Given the description of an element on the screen output the (x, y) to click on. 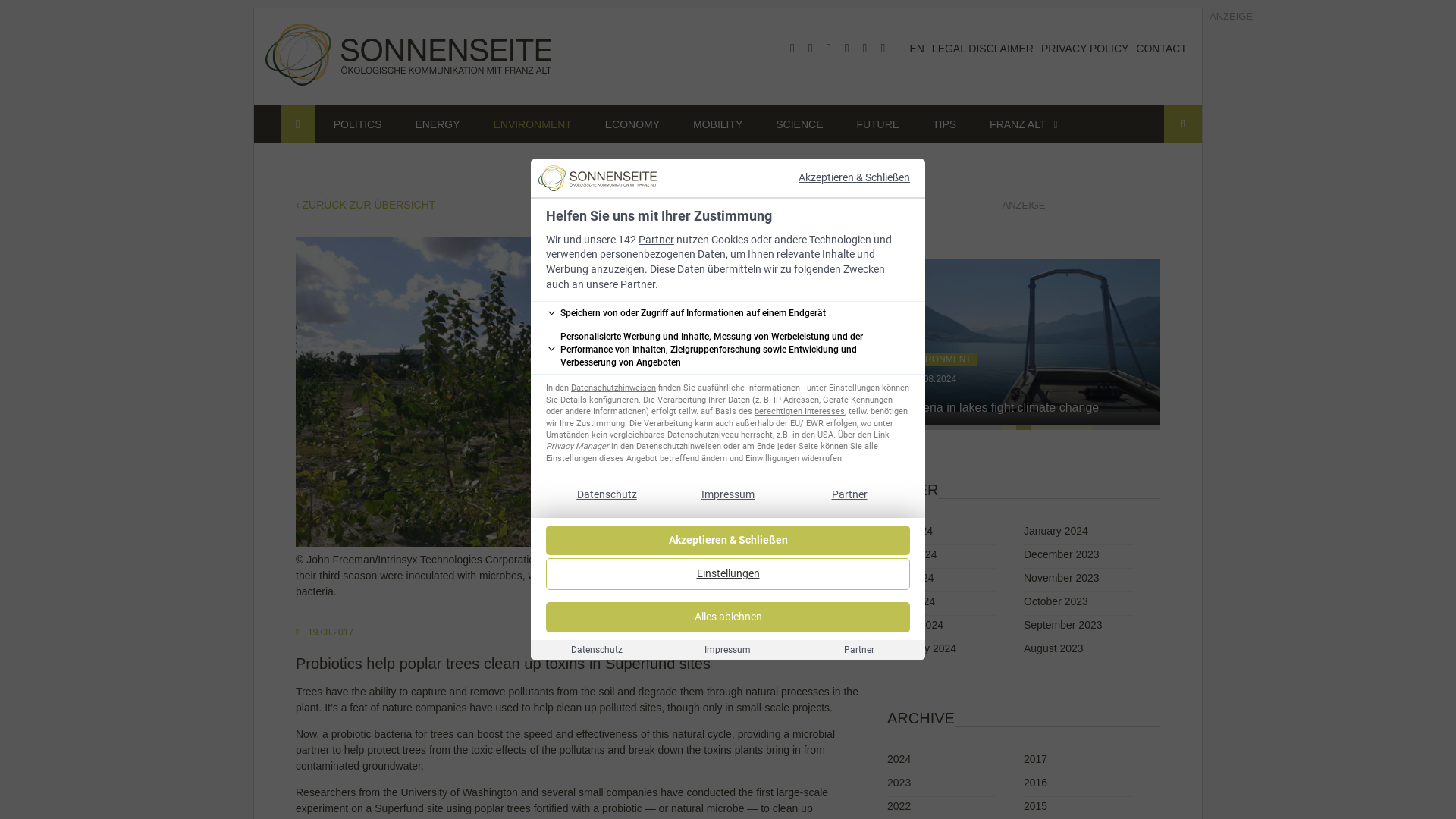
LEGAL DISCLAIMER (982, 48)
SCIENCE (799, 124)
TIPS (944, 124)
xing (864, 48)
POLITICS (357, 124)
facebook (791, 48)
linkedin (847, 48)
PRIVACY POLICY (1084, 48)
youtube (828, 48)
